Given the description of an element on the screen output the (x, y) to click on. 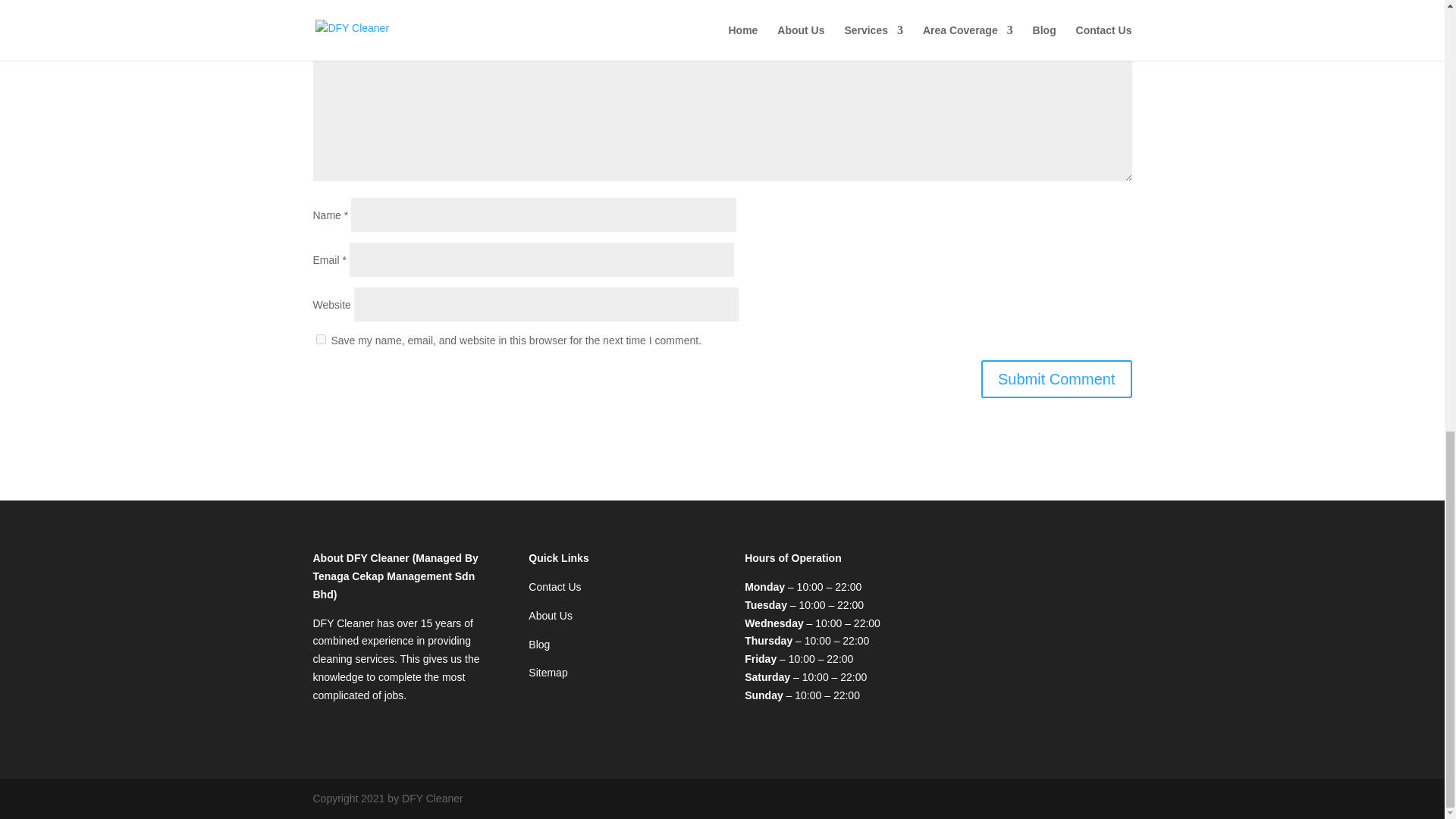
Sitemap (547, 672)
Contact Us (554, 586)
About Us (550, 615)
Blog (539, 644)
Submit Comment (1056, 379)
yes (319, 338)
Submit Comment (1056, 379)
